Given the description of an element on the screen output the (x, y) to click on. 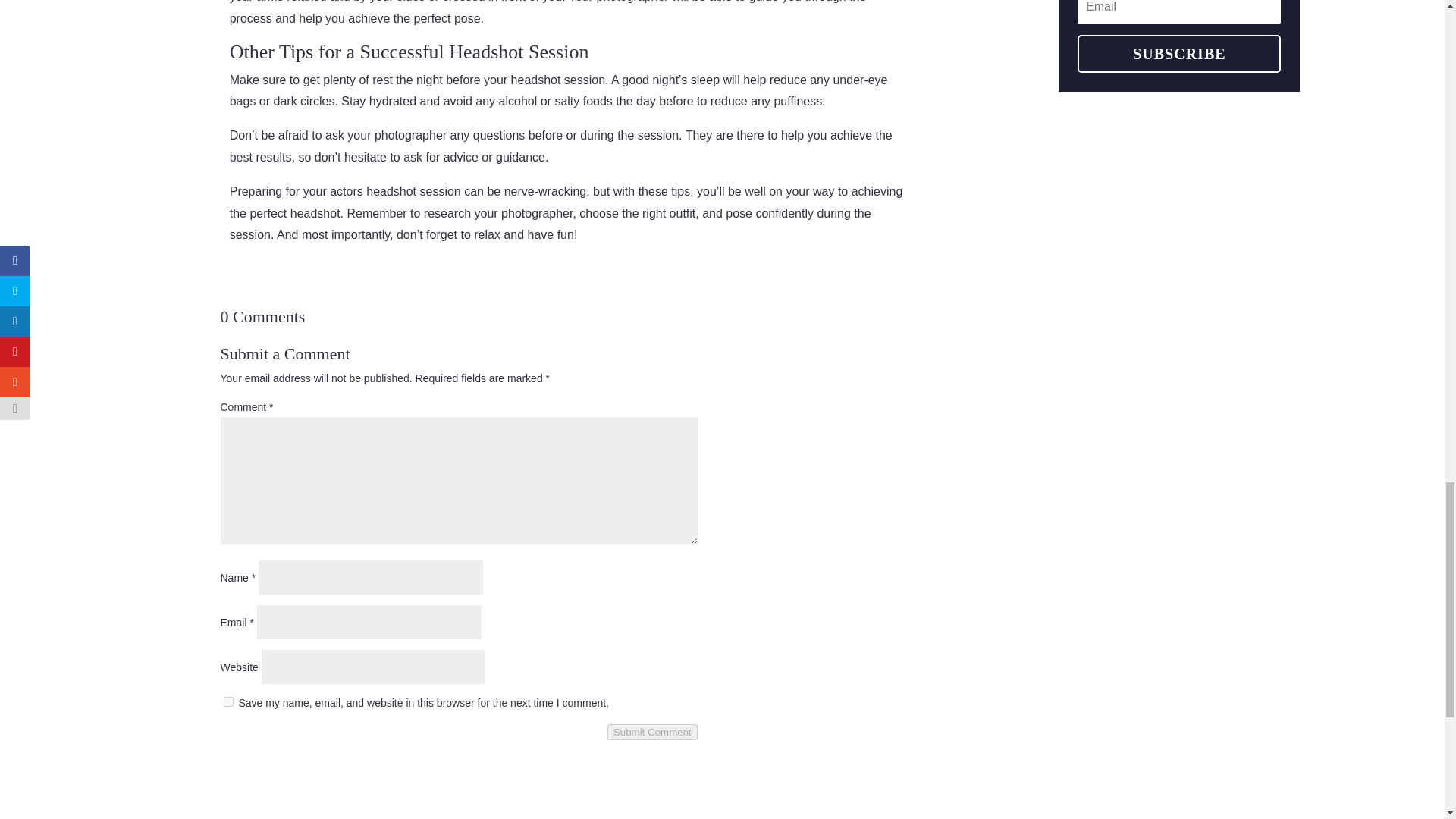
Submit Comment (652, 731)
yes (227, 701)
SUBSCRIBE (1179, 53)
